Given the description of an element on the screen output the (x, y) to click on. 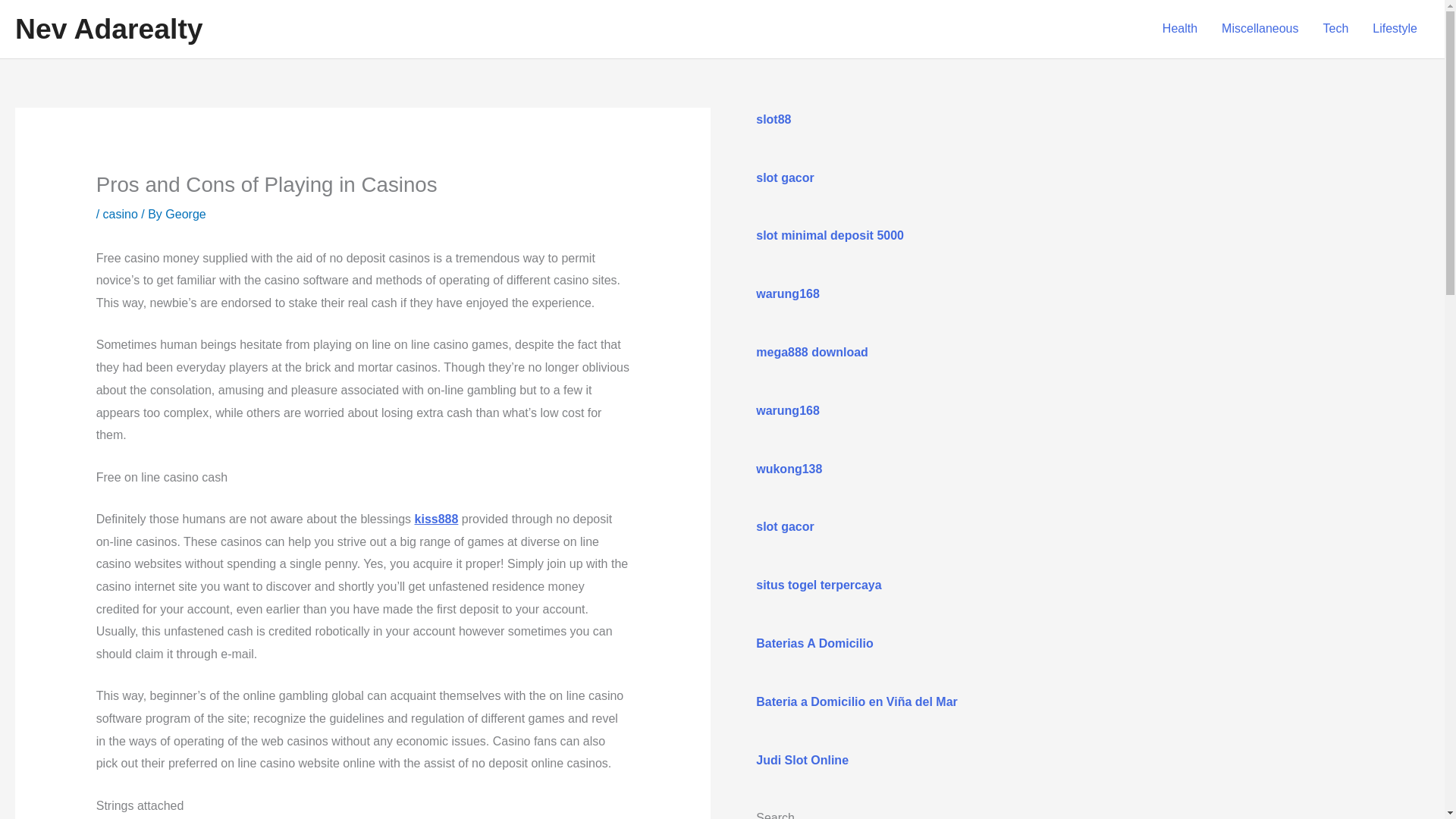
kiss888 (436, 518)
Judi Slot Online (801, 759)
Nev Adarealty (108, 29)
George (185, 214)
slot88 (772, 119)
slot minimal deposit 5000 (829, 235)
warung168 (787, 293)
slot gacor (784, 526)
warung168 (787, 410)
slot gacor (784, 177)
